Given the description of an element on the screen output the (x, y) to click on. 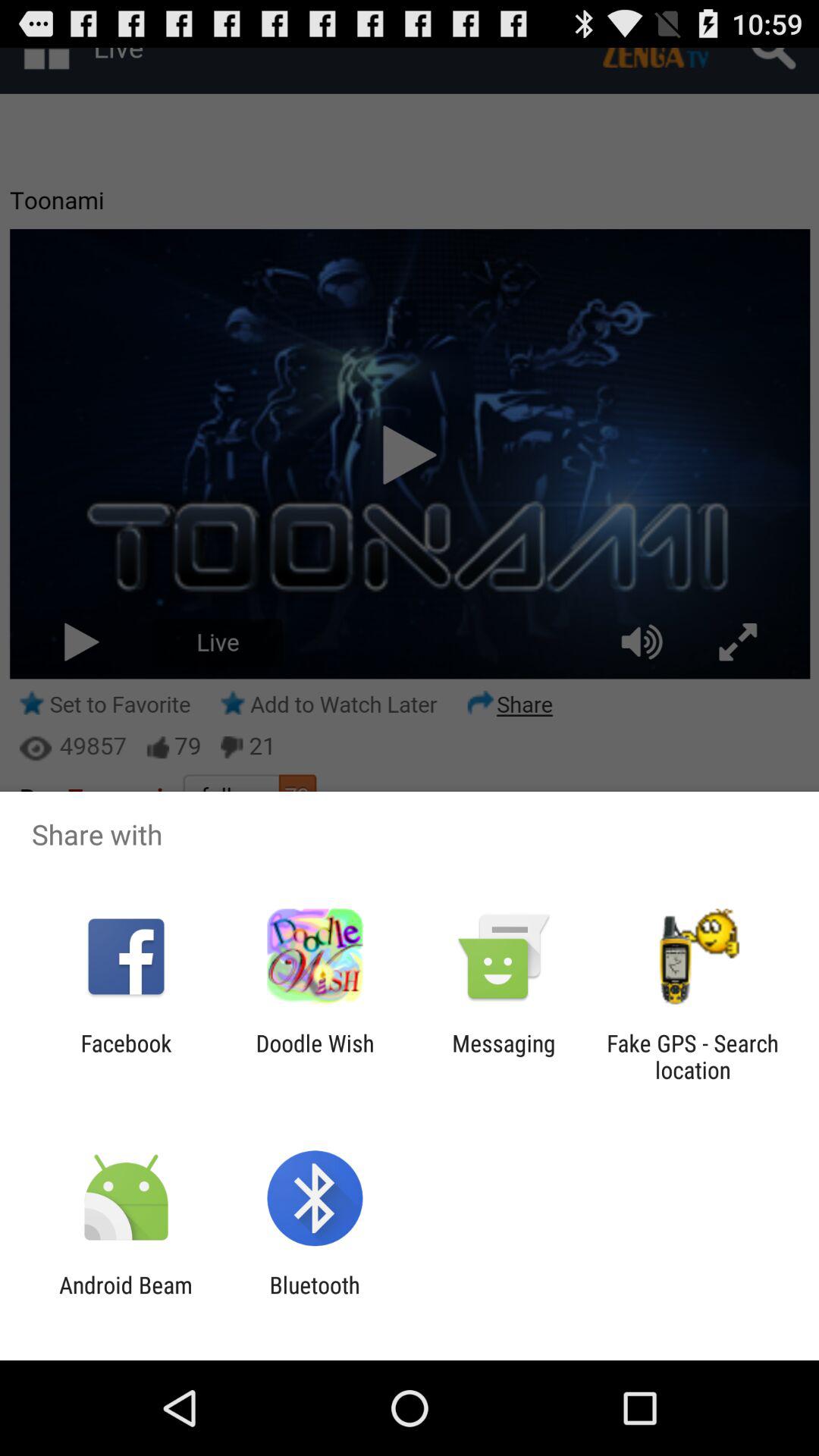
flip to fake gps search (692, 1056)
